Given the description of an element on the screen output the (x, y) to click on. 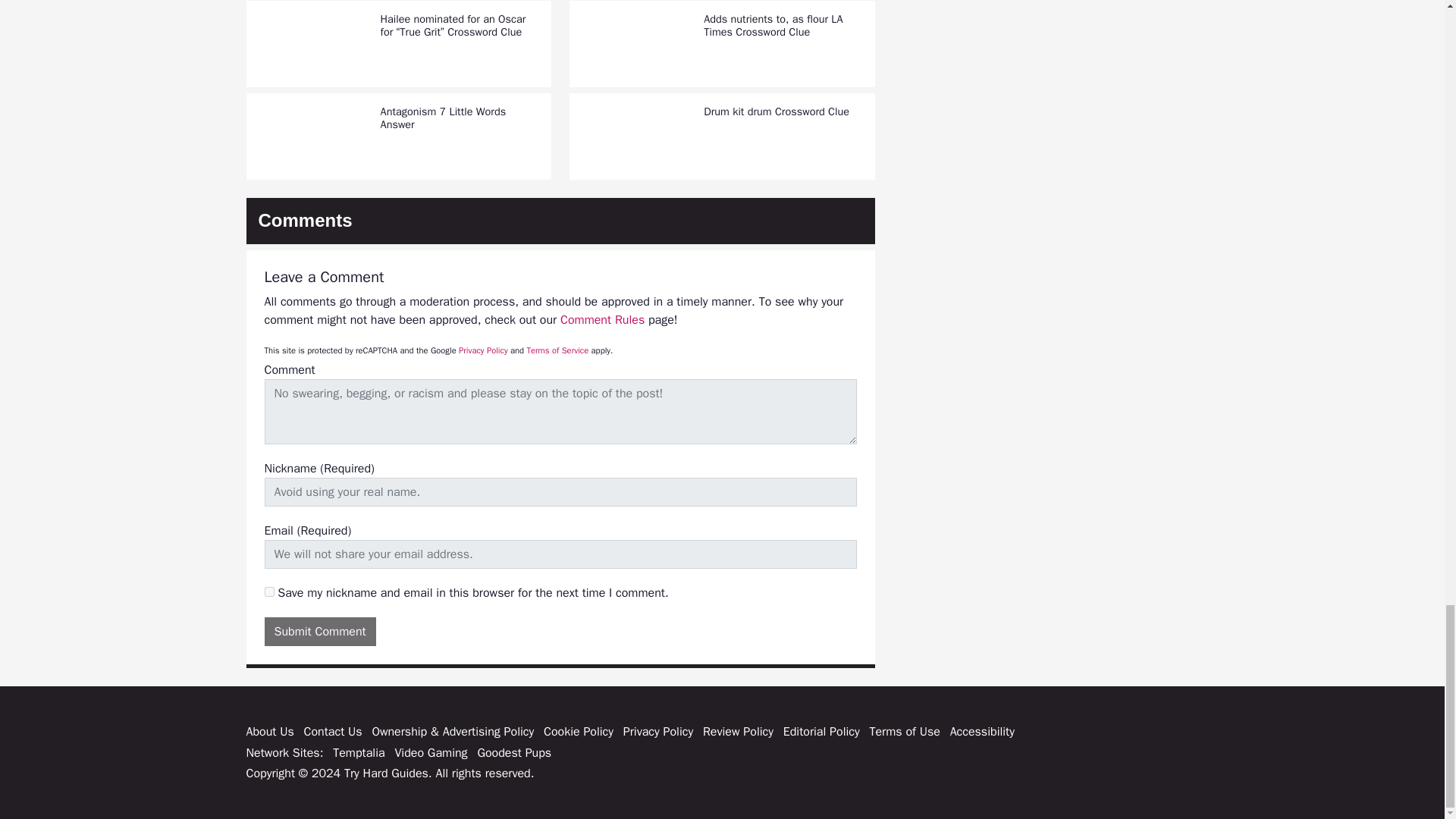
on (268, 592)
Submit Comment (319, 631)
